Given the description of an element on the screen output the (x, y) to click on. 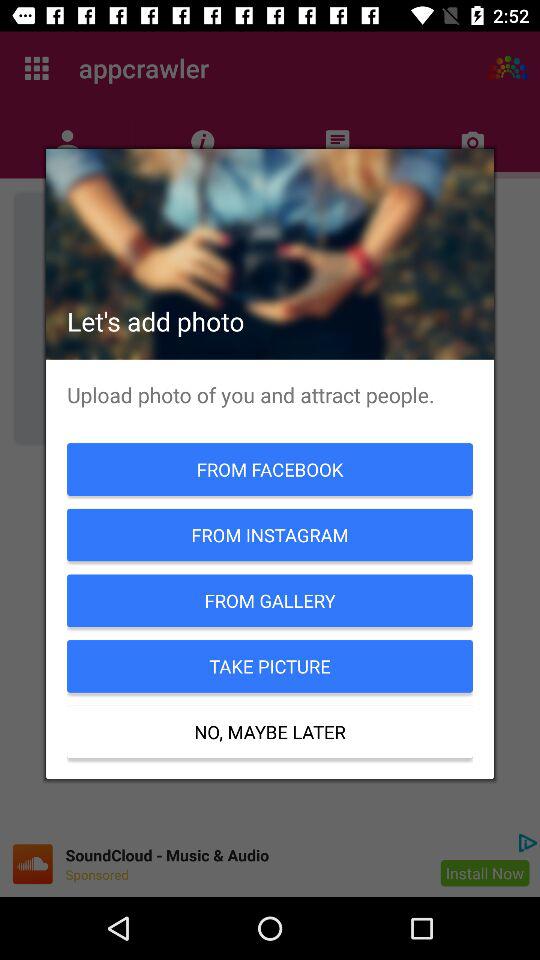
tap the from gallery icon (269, 600)
